Given the description of an element on the screen output the (x, y) to click on. 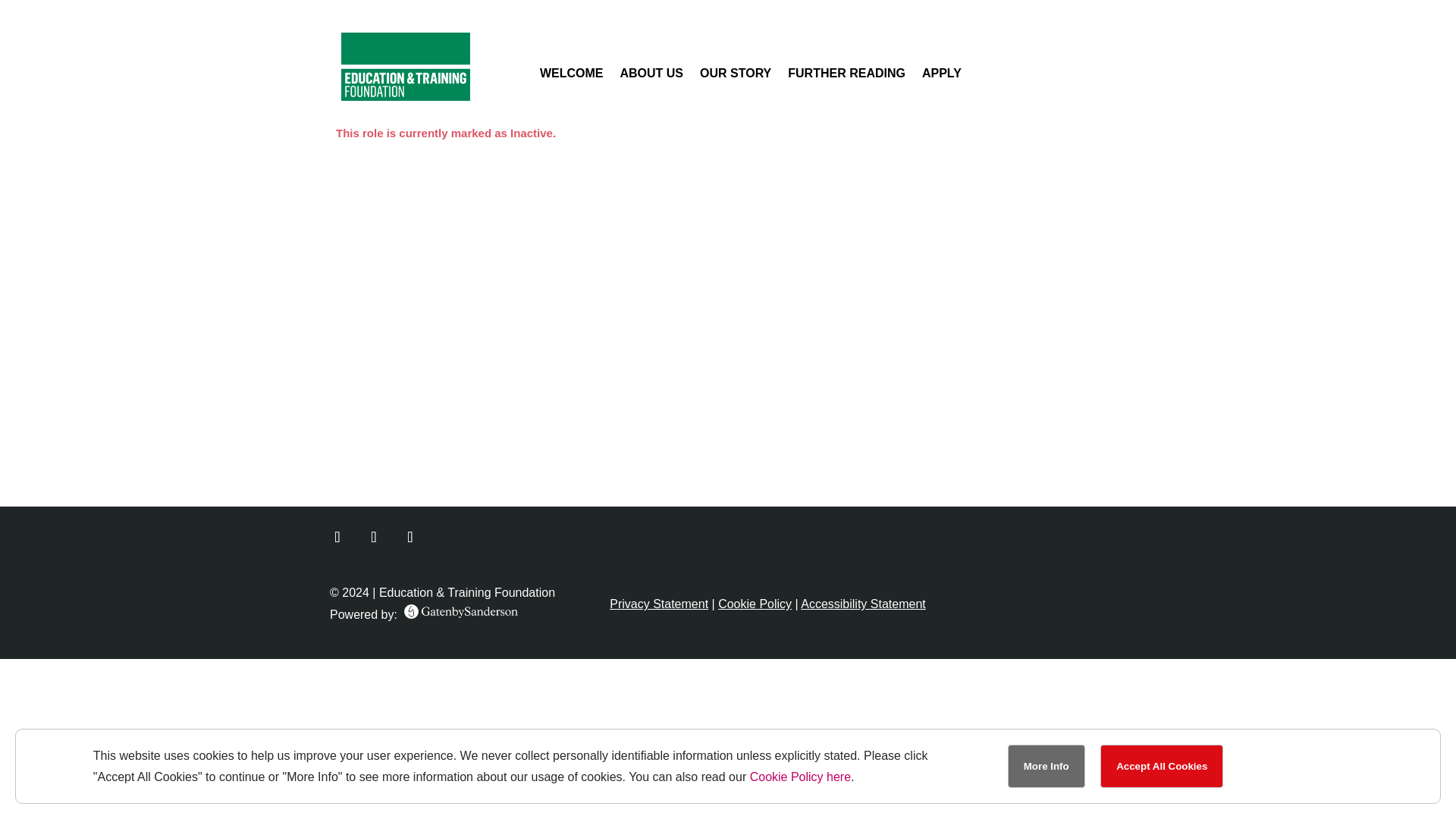
APPLY (940, 76)
Privacy Statement (658, 603)
OUR STORY (735, 76)
Follow on Instagram (409, 536)
ABOUT US (651, 76)
Accessibility Statement (863, 603)
Follow on X (336, 536)
WELCOME (572, 76)
Follow on LinkedIn (373, 536)
Cookie Policy (754, 603)
FURTHER READING (846, 76)
